Given the description of an element on the screen output the (x, y) to click on. 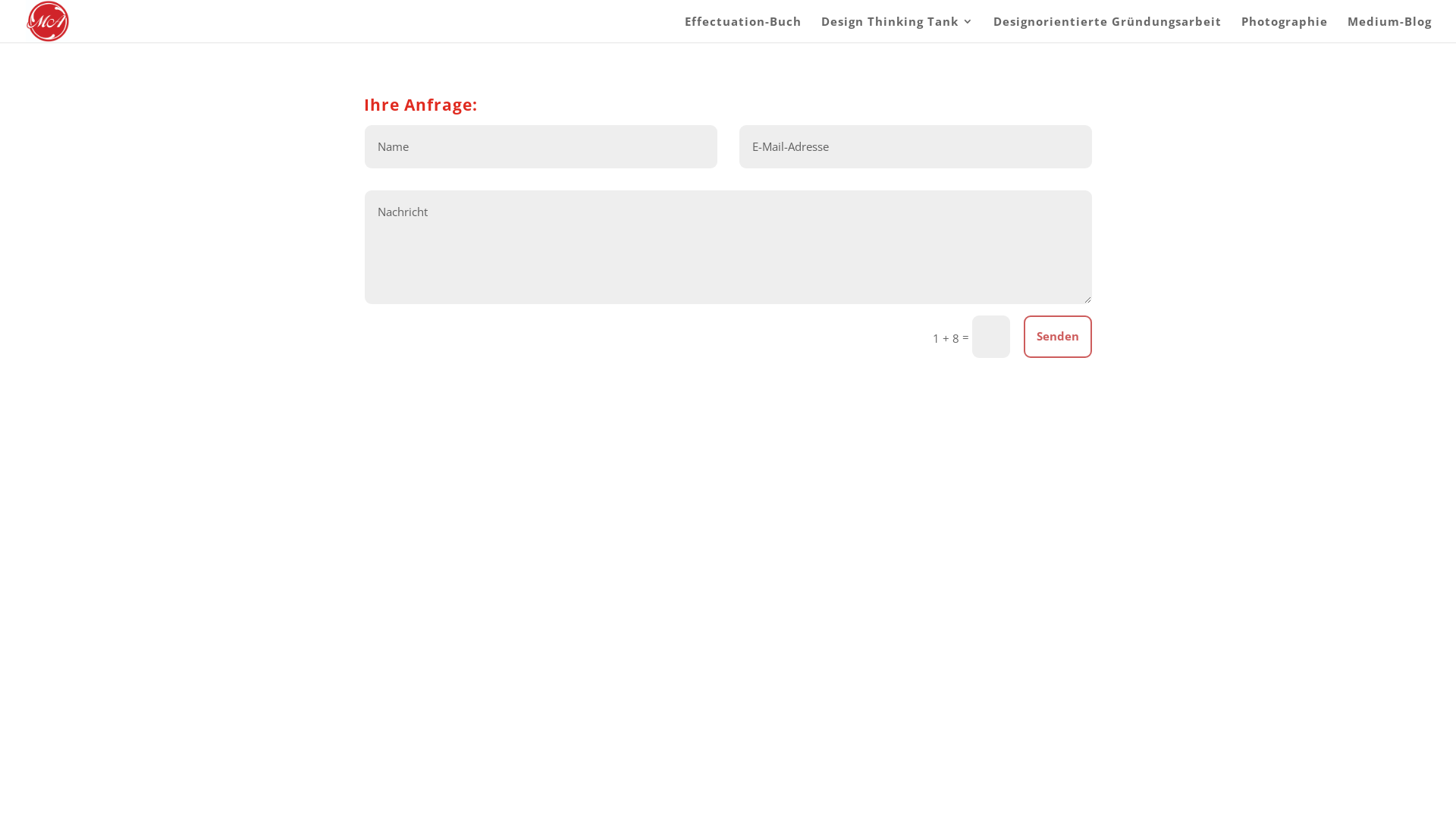
Effectuation-Buch Element type: text (742, 28)
Senden Element type: text (1057, 336)
Photographie Element type: text (1284, 28)
Medium-Blog Element type: text (1389, 28)
Design Thinking Tank Element type: text (897, 28)
